Given the description of an element on the screen output the (x, y) to click on. 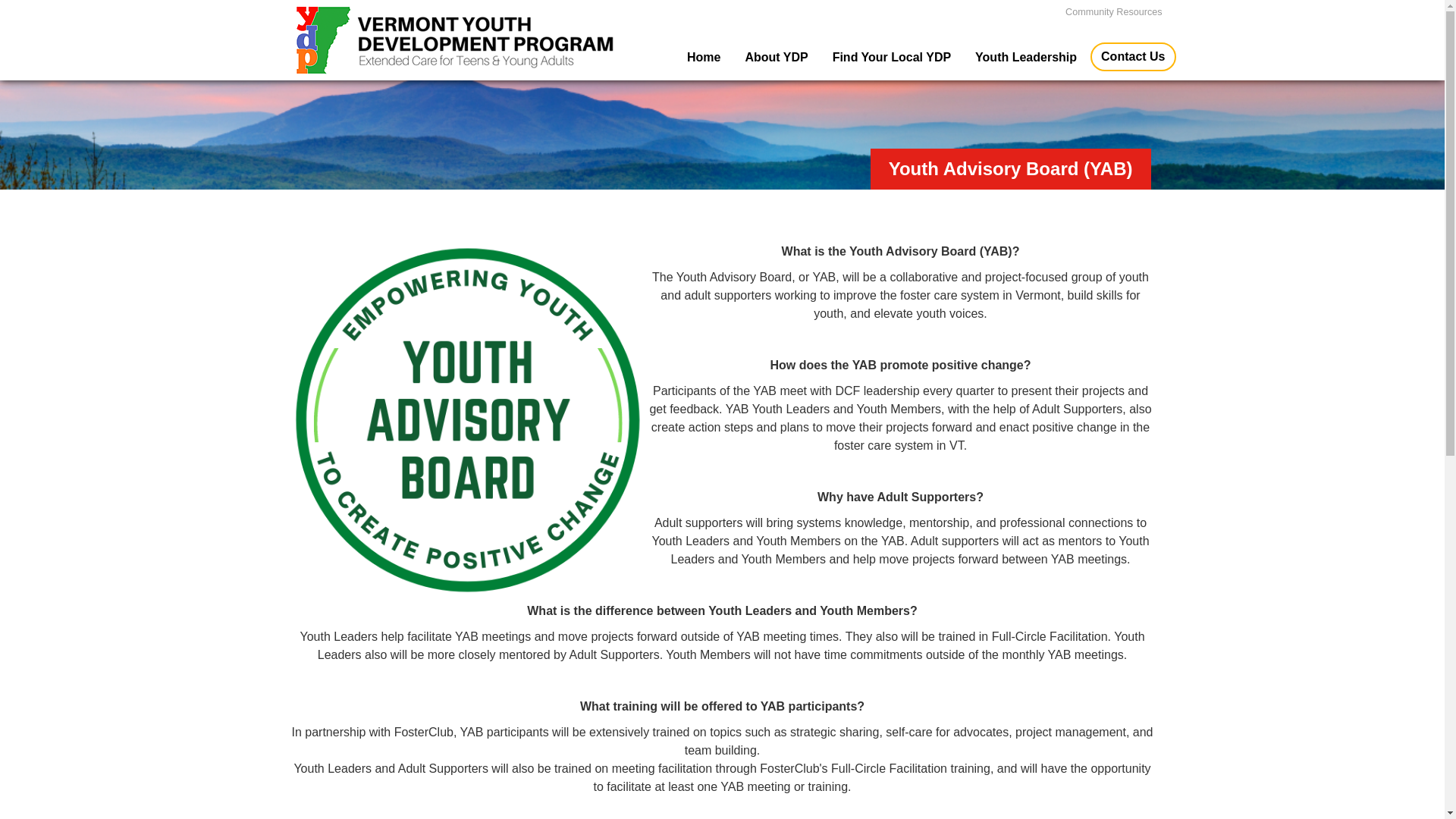
Find Your Local YDP (891, 57)
About YDP (775, 57)
Community Resources (1113, 11)
Home (703, 57)
Contact Us (1132, 56)
Youth Leadership (1025, 57)
